Given the description of an element on the screen output the (x, y) to click on. 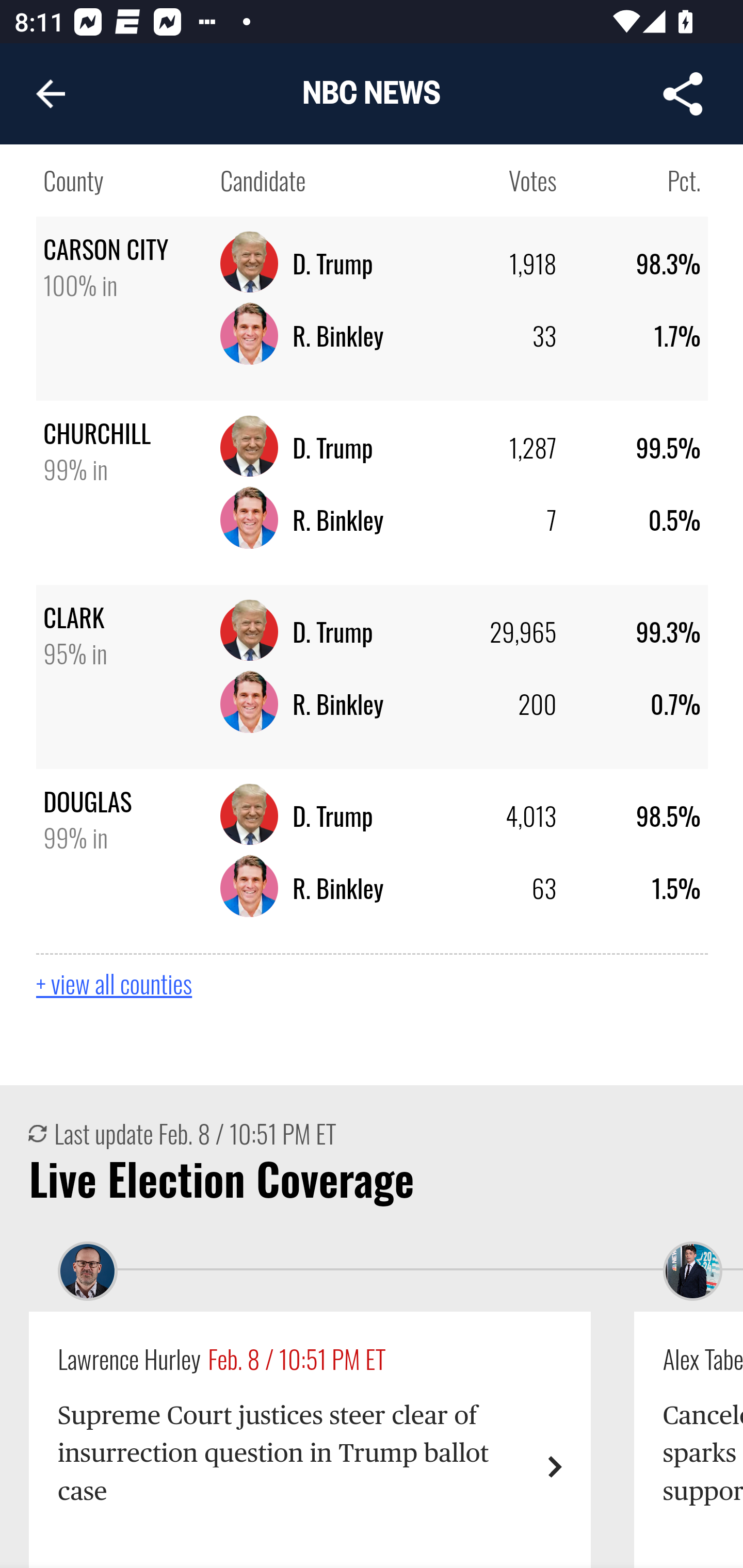
Navigate up (50, 93)
Share Article, button (683, 94)
view all counties (372, 975)
